Given the description of an element on the screen output the (x, y) to click on. 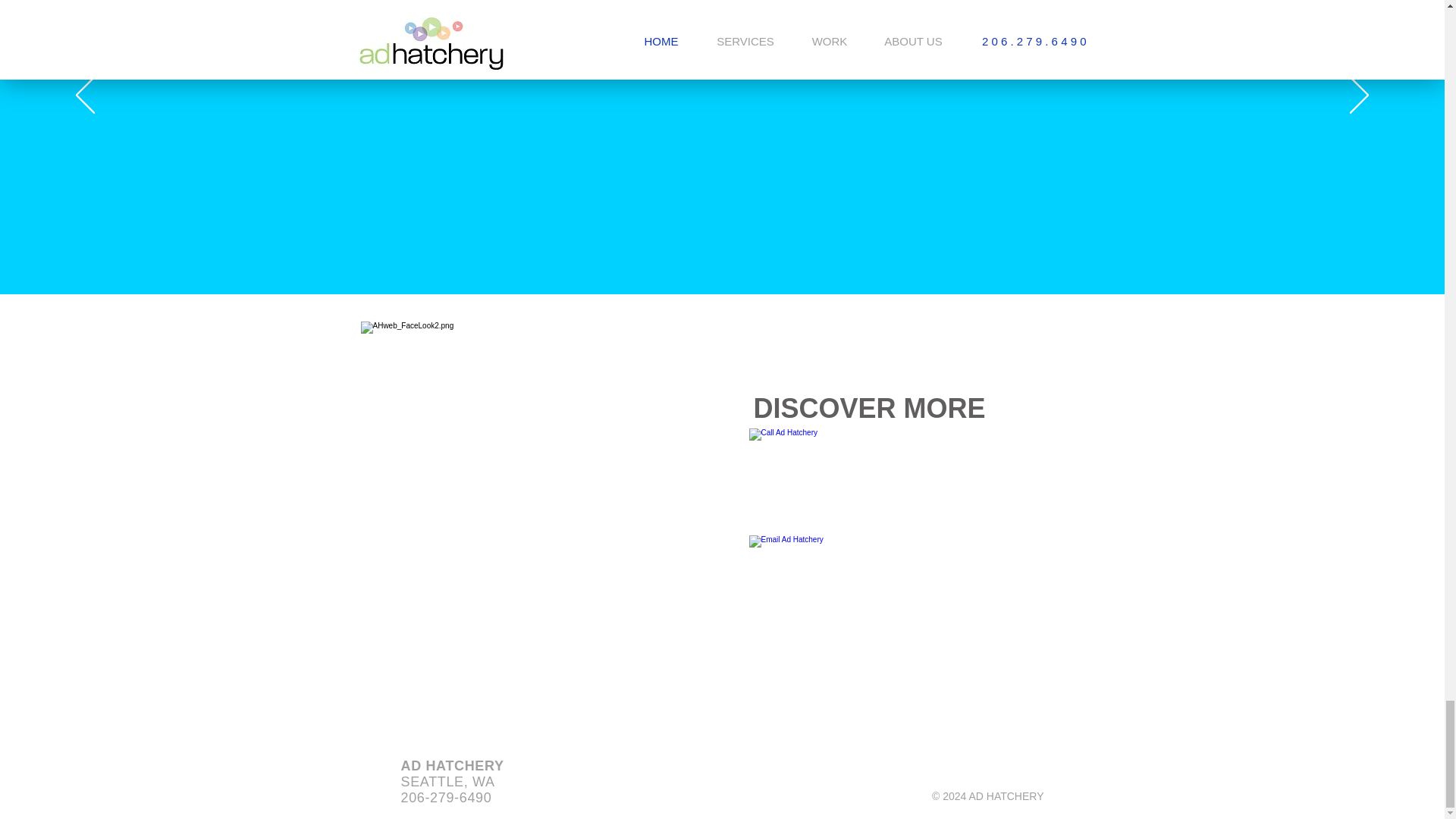
We'd love to hear from you. (869, 595)
Call 206-279-6490 (869, 488)
